Given the description of an element on the screen output the (x, y) to click on. 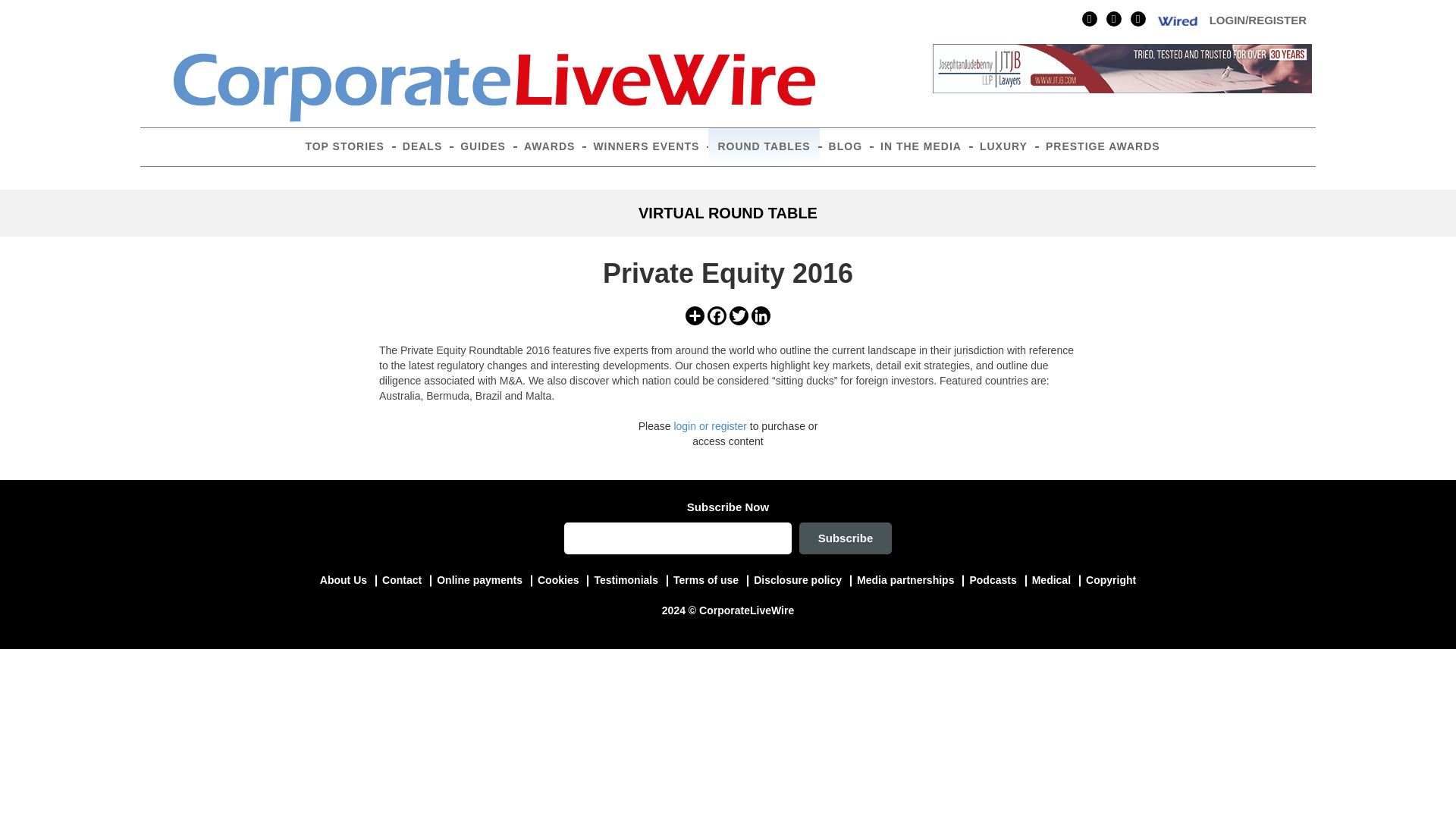
GUIDES (483, 146)
AWARDS (549, 146)
TOP STORIES (344, 146)
DEALS (422, 146)
